Given the description of an element on the screen output the (x, y) to click on. 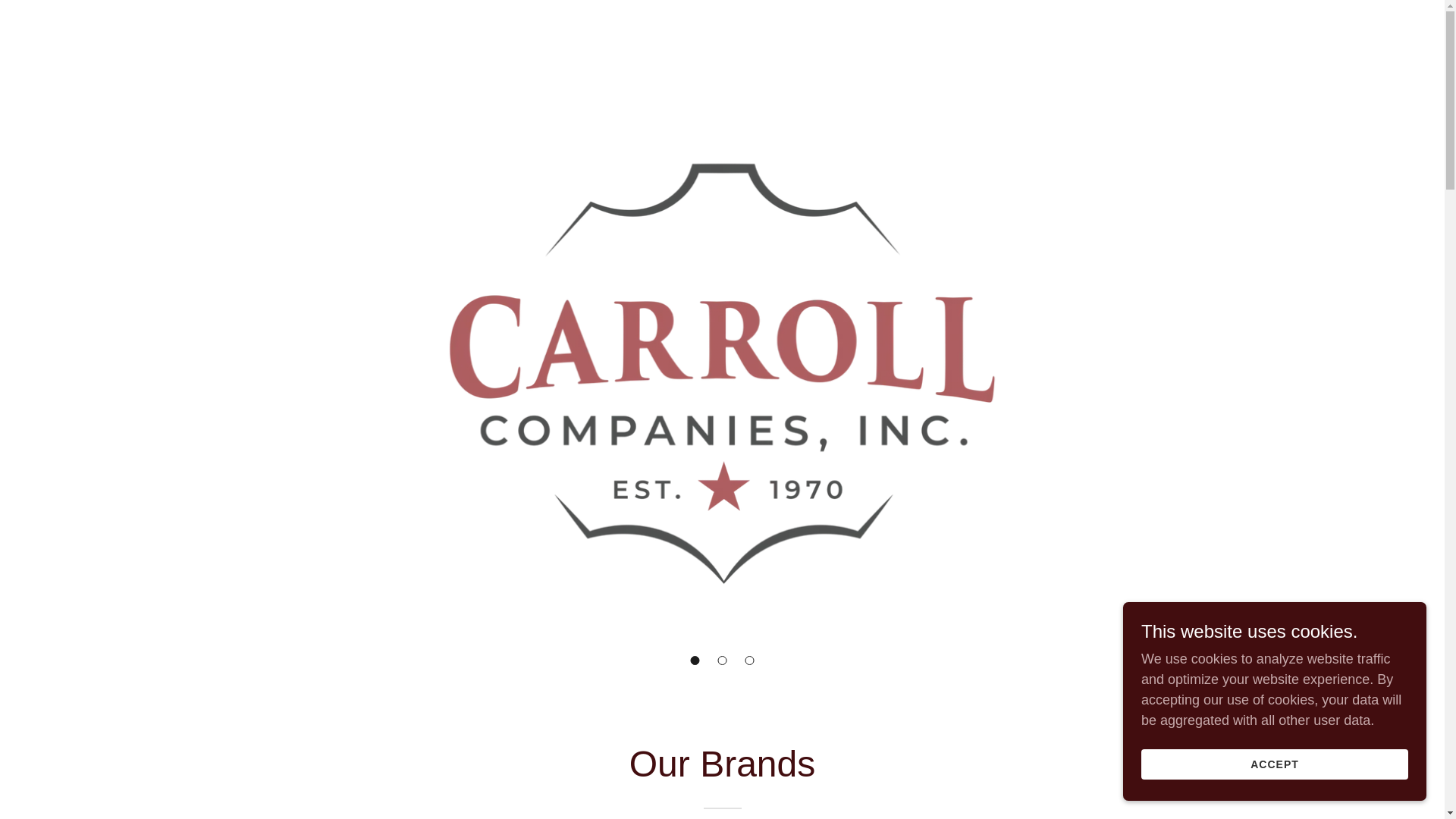
ACCEPT (1274, 764)
